Given the description of an element on the screen output the (x, y) to click on. 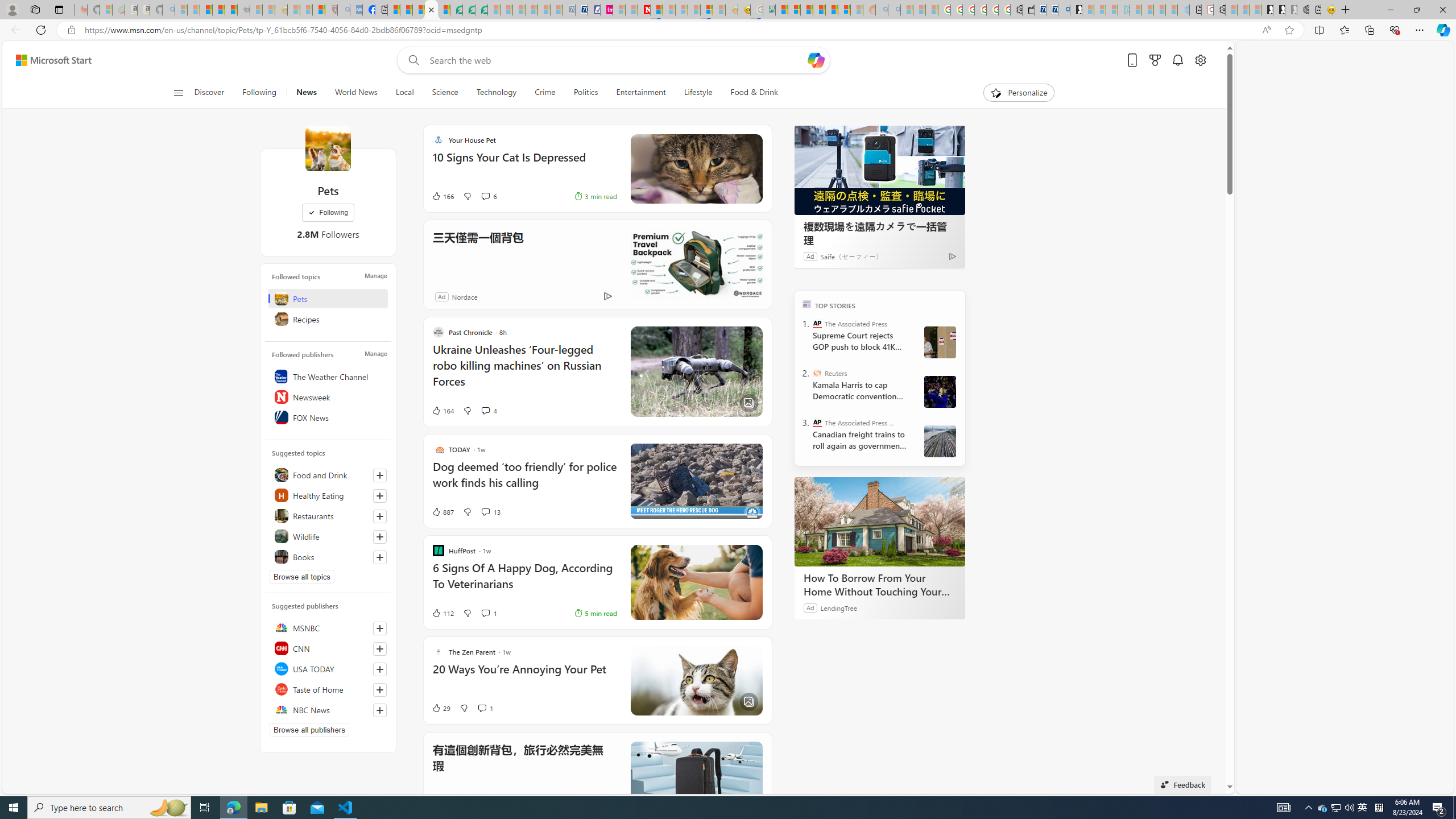
Class: button-glyph (178, 92)
Microsoft Word - consumer-privacy address update 2.2021 (481, 9)
29 Like (440, 708)
Wildlife (327, 536)
View comments 6 Comment (489, 196)
